Given the description of an element on the screen output the (x, y) to click on. 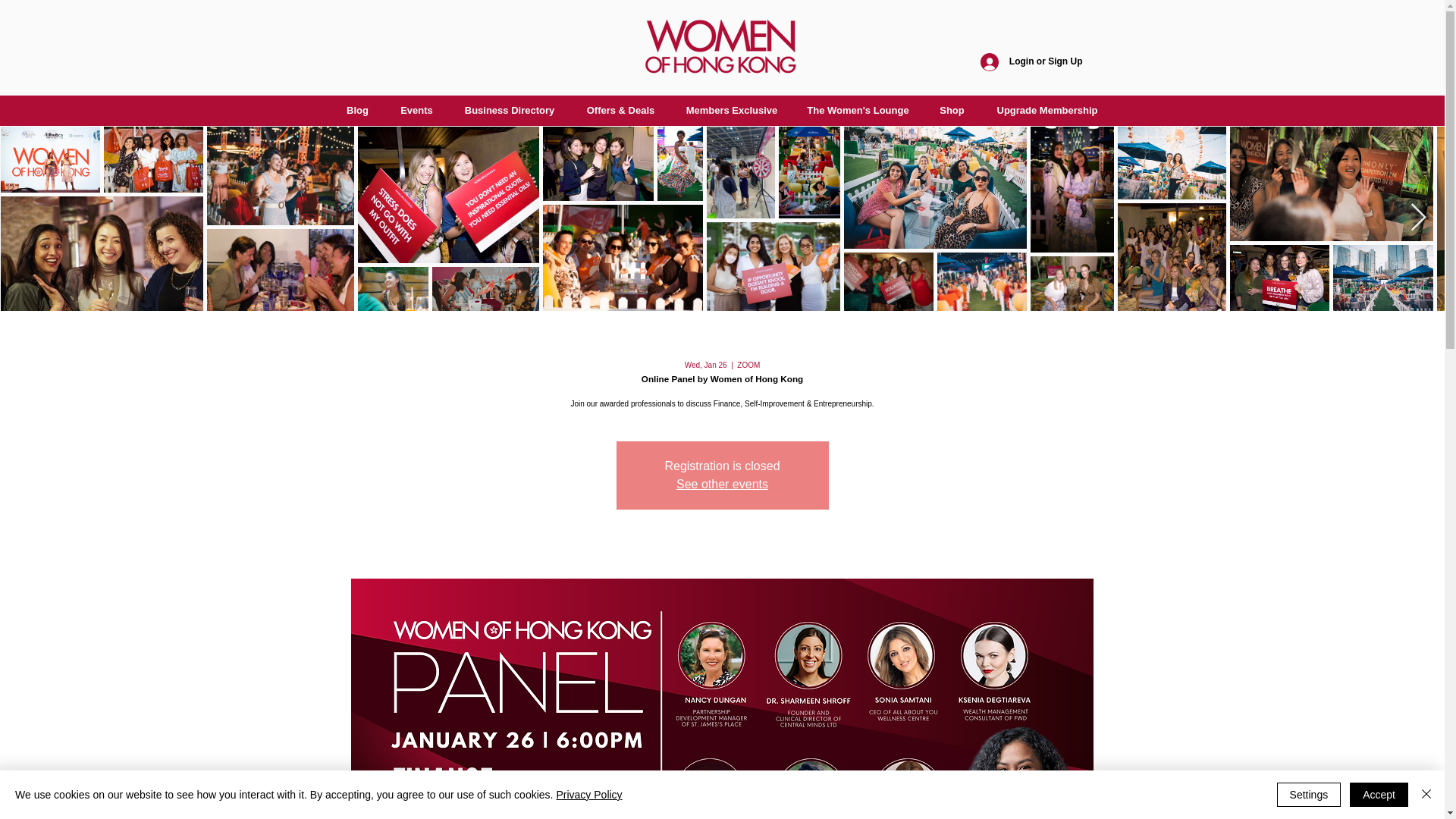
Privacy Policy (588, 794)
Login or Sign Up (1031, 62)
Settings (1308, 794)
The Women's Lounge (857, 110)
Upgrade Membership (1046, 110)
Accept (1378, 794)
Business Directory (509, 110)
See other events (722, 483)
Events (416, 110)
Blog (357, 110)
Shop (951, 110)
